Given the description of an element on the screen output the (x, y) to click on. 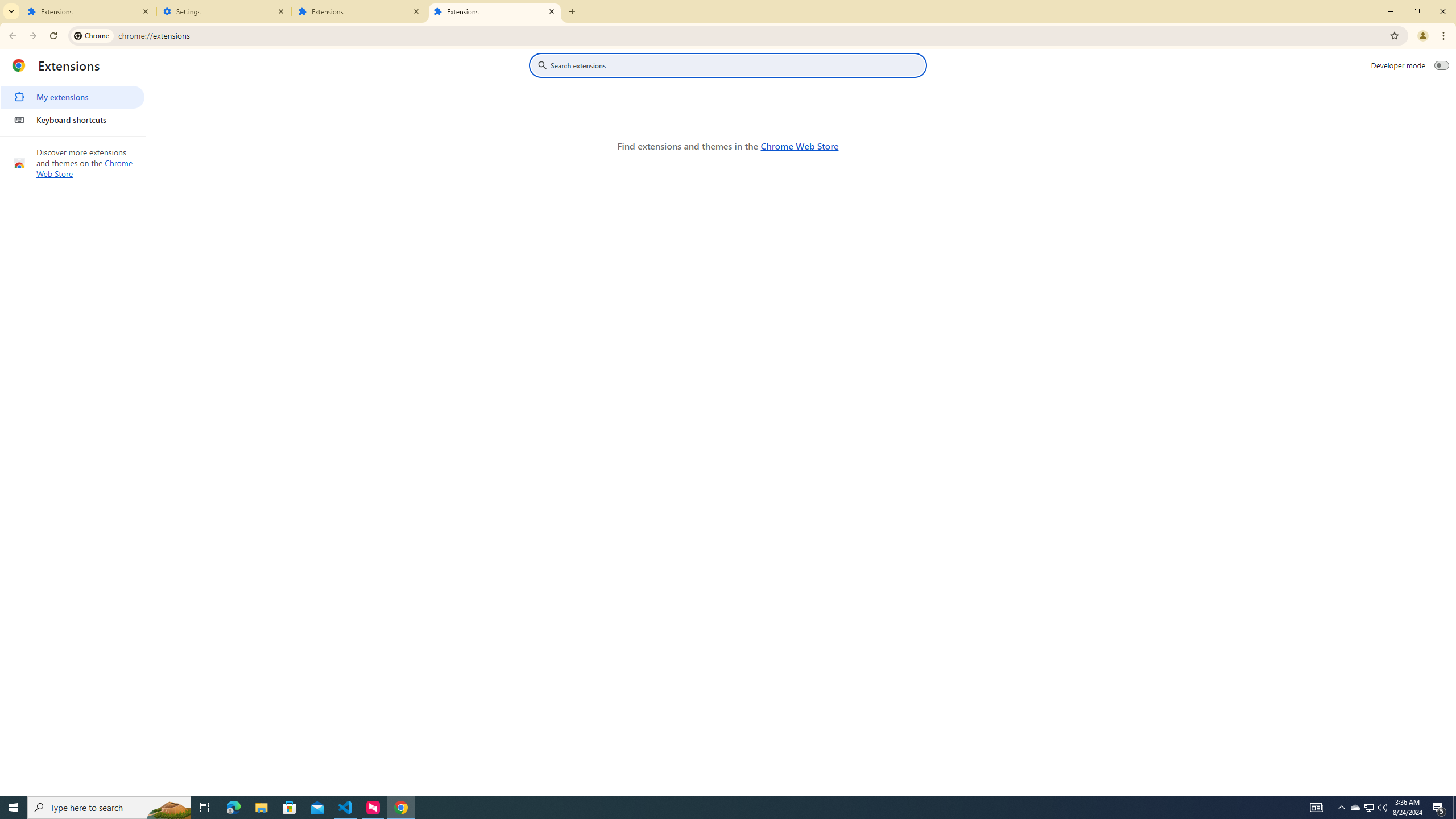
Settings (224, 11)
Extensions (88, 11)
Keyboard shortcuts (72, 119)
Chrome Web Store (799, 145)
